Given the description of an element on the screen output the (x, y) to click on. 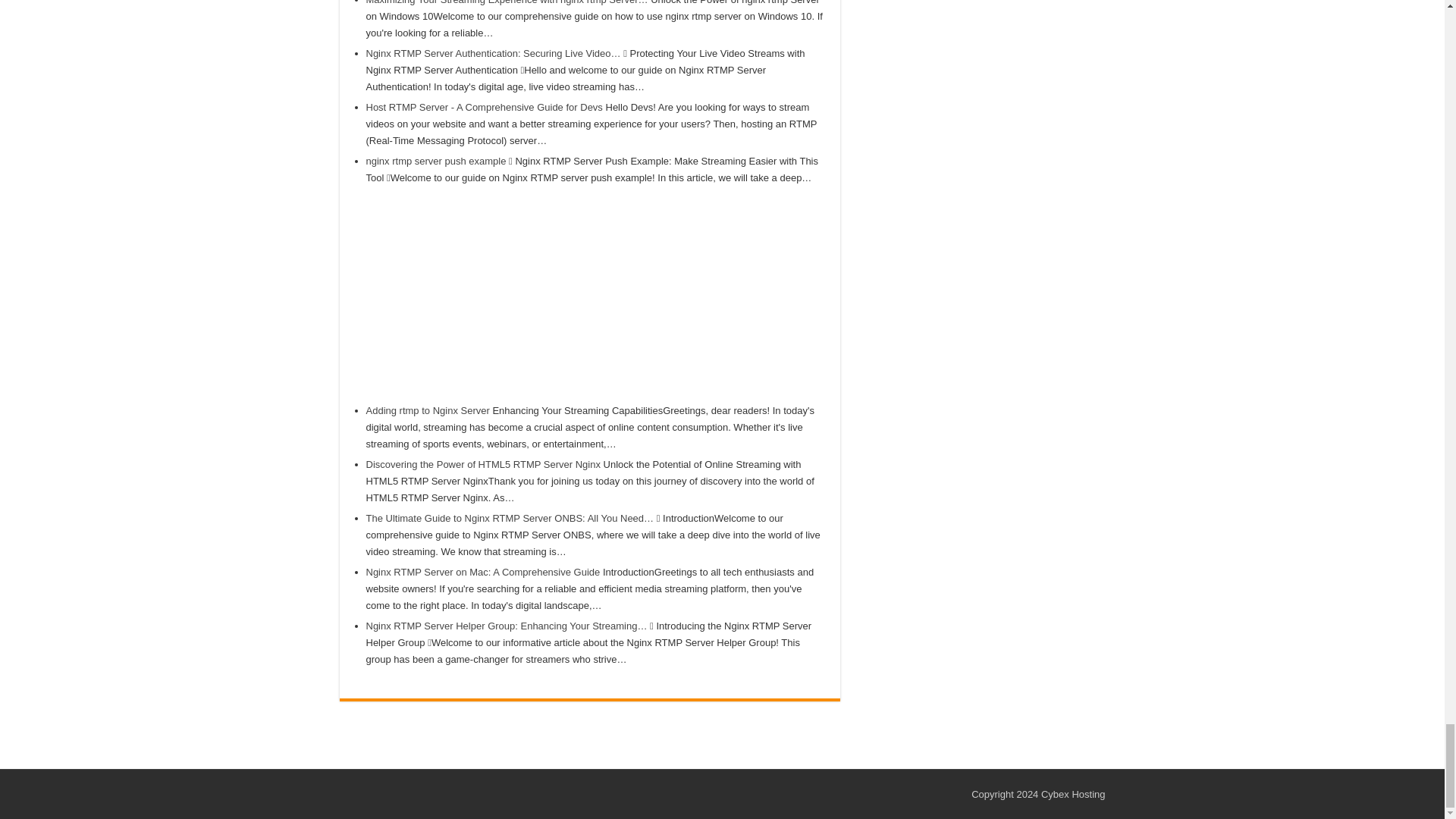
Host RTMP Server - A Comprehensive Guide for Devs (483, 107)
